Given the description of an element on the screen output the (x, y) to click on. 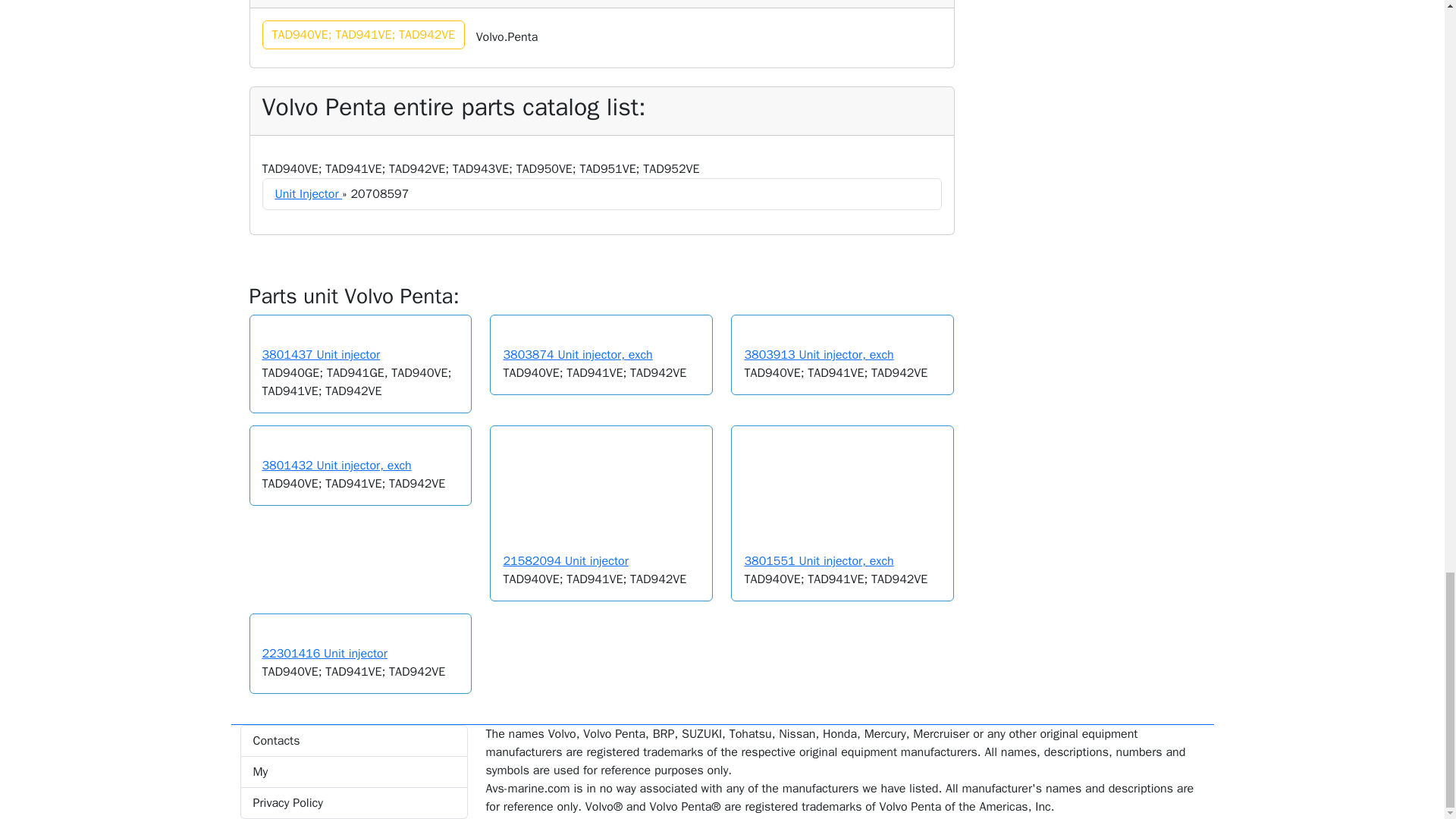
3803874 Unit injector, exch (577, 354)
22301416 Unit injector (324, 653)
3801432 Unit injector, exch (337, 465)
TAD940VE; TAD941VE; TAD942VE (363, 34)
21582094 Unit injector (564, 560)
Unit Injector (308, 193)
3803913 Unit injector, exch (818, 354)
3801551 Unit injector, exch (818, 560)
3801437 Unit injector (321, 354)
TAD940VE; TAD941VE; TAD942VE Volvo.Penta catalogue (363, 34)
